Given the description of an element on the screen output the (x, y) to click on. 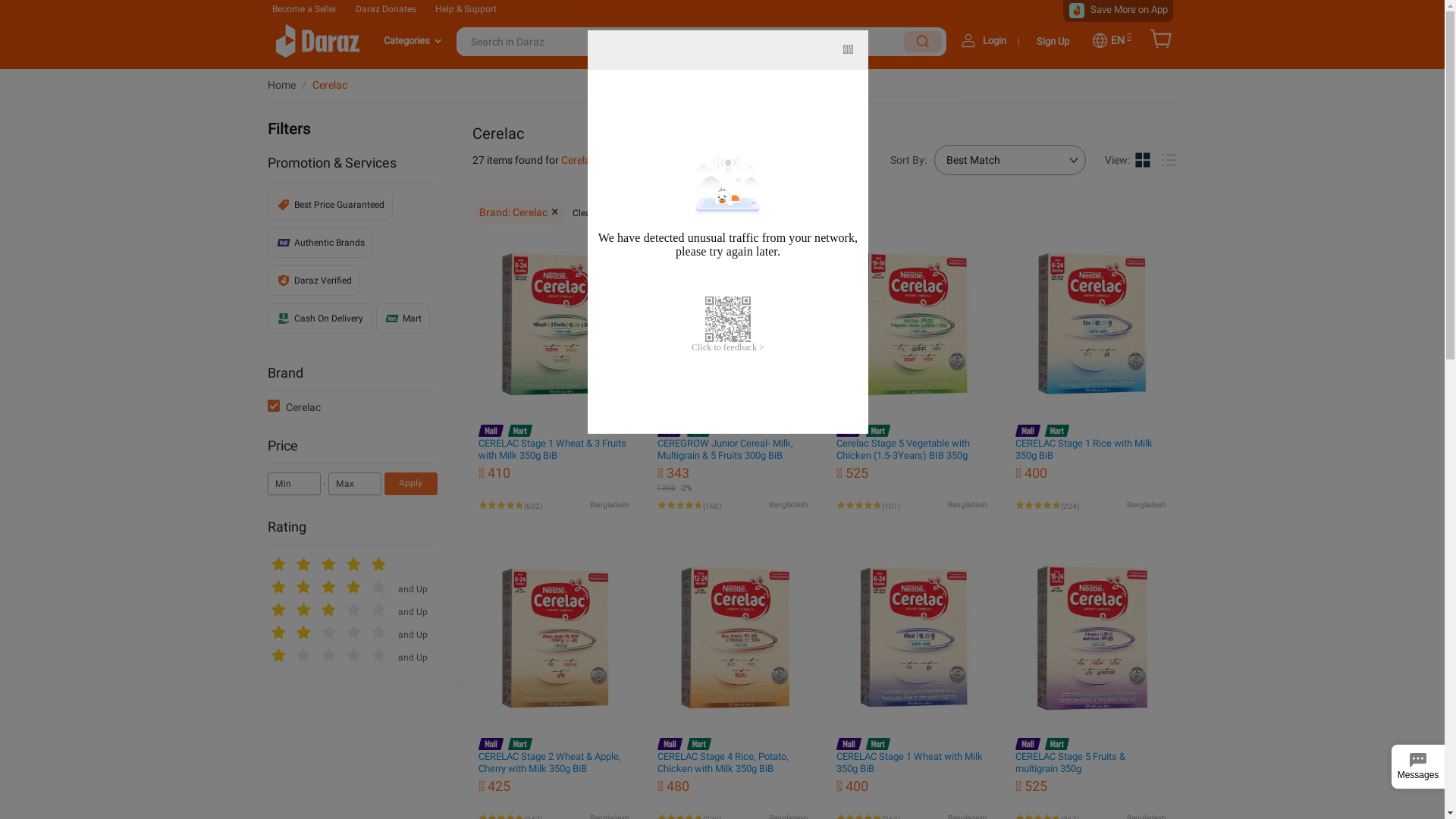
Sign Up Element type: text (1052, 40)
CERELAC Stage 1 Wheat & 3 Fruits with Milk 350g BiB Element type: text (551, 449)
Apply Element type: text (409, 483)
CERELAC Stage 5 Fruits & multigrain 350g Element type: text (1069, 762)
CERELAC Stage 1 Rice with Milk 350g BiB Element type: text (1082, 449)
Cerelac Element type: text (578, 159)
Login Element type: text (994, 40)
CERELAC Stage 1 Wheat with Milk 350g BiB Element type: text (908, 762)
CEREGROW Junior Cereal- Milk, Multigrain & 5 Fruits 300g BiB Element type: text (724, 449)
Messages Element type: text (1417, 766)
Become a Seller Element type: text (303, 8)
Daraz Donates Element type: text (384, 8)
Save More on App Element type: text (1128, 9)
CERELAC Stage 2 Wheat & Apple, Cherry with Milk 350g BiB Element type: text (548, 762)
Home Element type: text (280, 84)
SEARCH Element type: text (922, 41)
Categories Element type: text (409, 41)
CERELAC Stage 4 Rice, Potato, Chicken with Milk 350g BiB Element type: text (721, 762)
Cerelac Element type: text (329, 84)
Cerelac Stage 5 Vegetable with Chicken (1.5-3Years) BIB 350g Element type: text (902, 449)
